Given the description of an element on the screen output the (x, y) to click on. 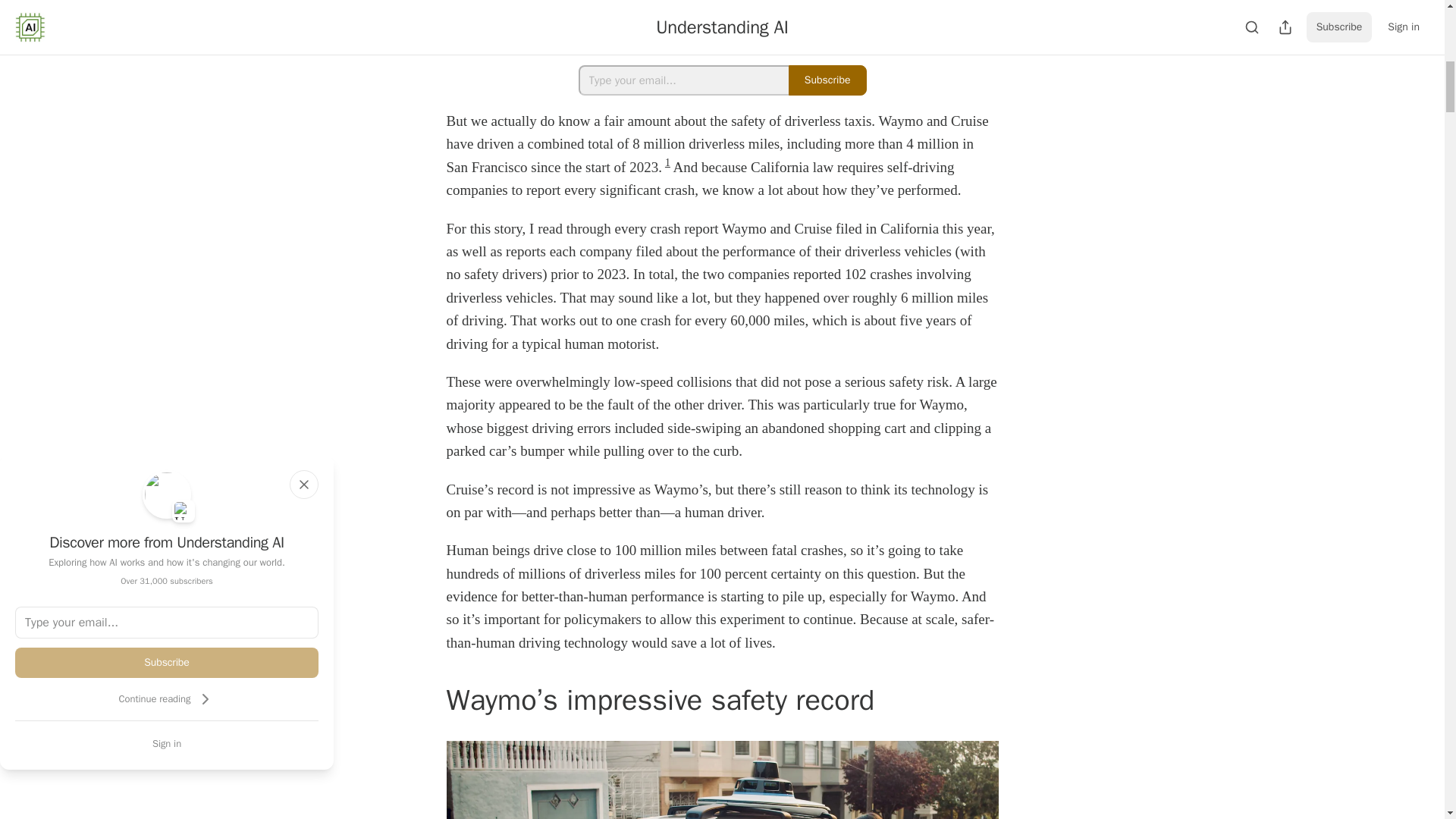
Subscribe (166, 662)
Sign in (166, 743)
Subscribe (827, 80)
